Given the description of an element on the screen output the (x, y) to click on. 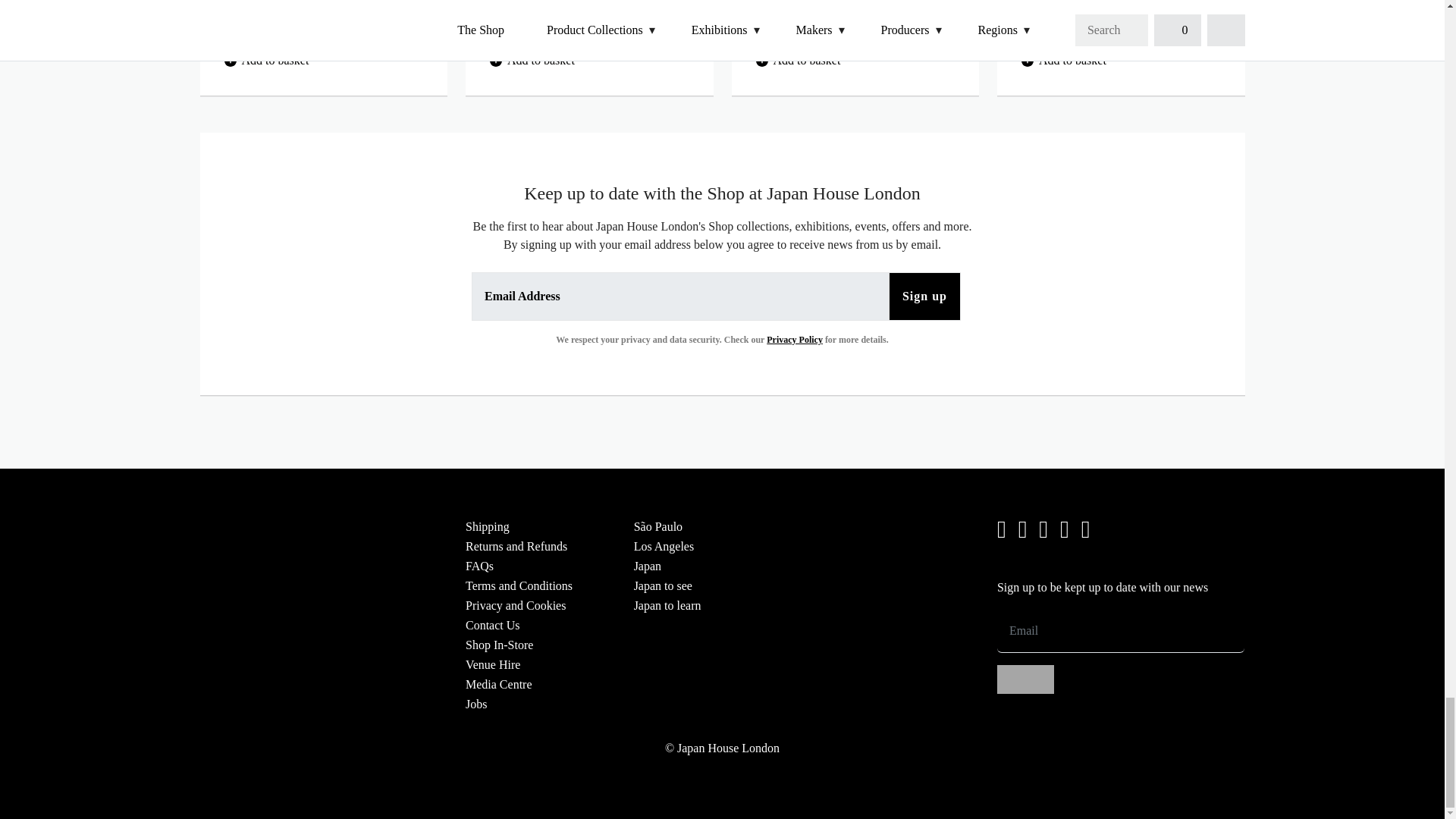
Sign up (924, 296)
Sign up (1025, 679)
